Given the description of an element on the screen output the (x, y) to click on. 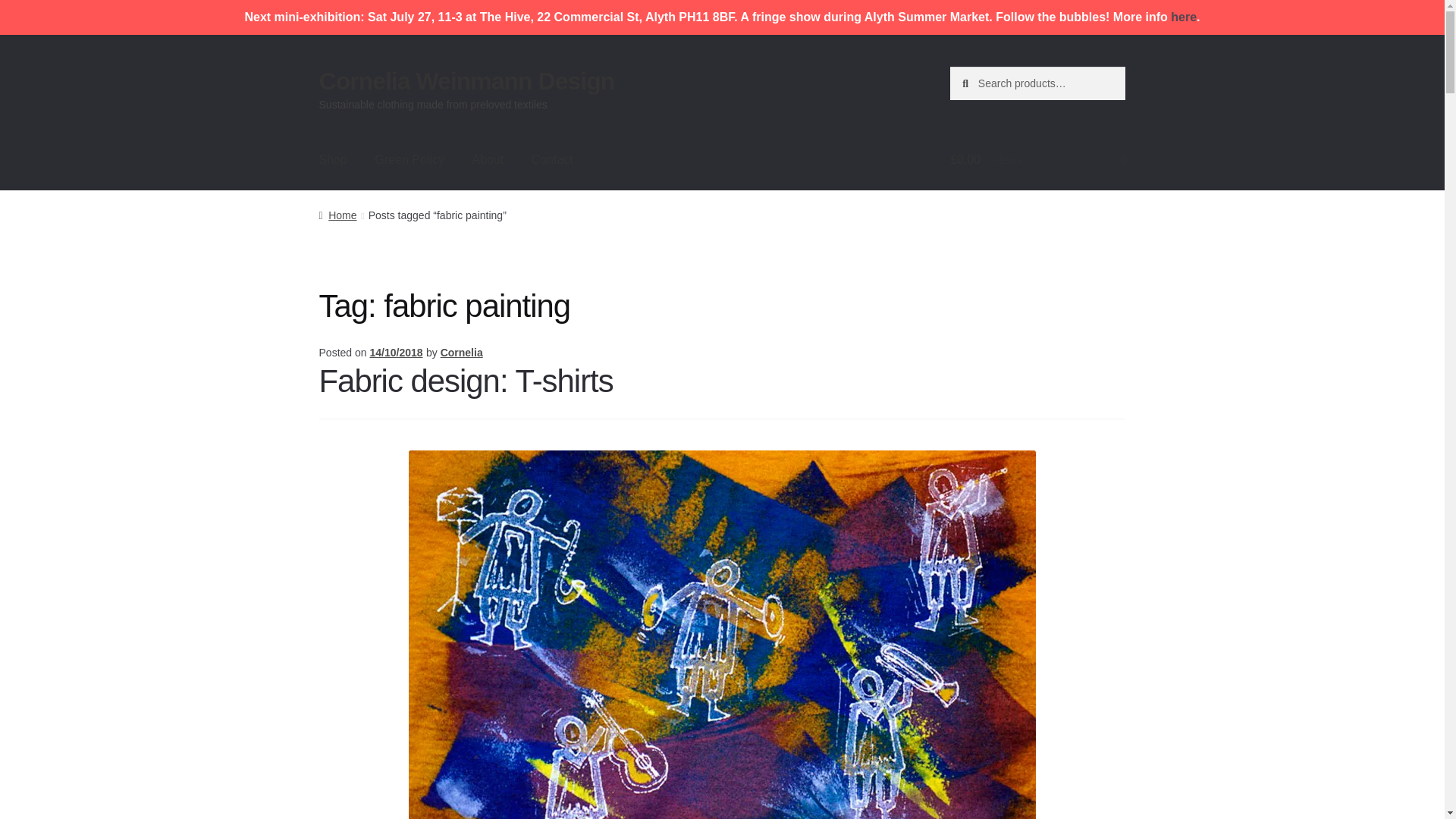
Green Policy (409, 159)
here (1183, 16)
Home (337, 215)
Fabric design: T-shirts (465, 380)
About (487, 159)
Cornelia (462, 352)
Cornelia Weinmann Design (466, 81)
View your shopping basket (1037, 159)
Contact (552, 159)
